Given the description of an element on the screen output the (x, y) to click on. 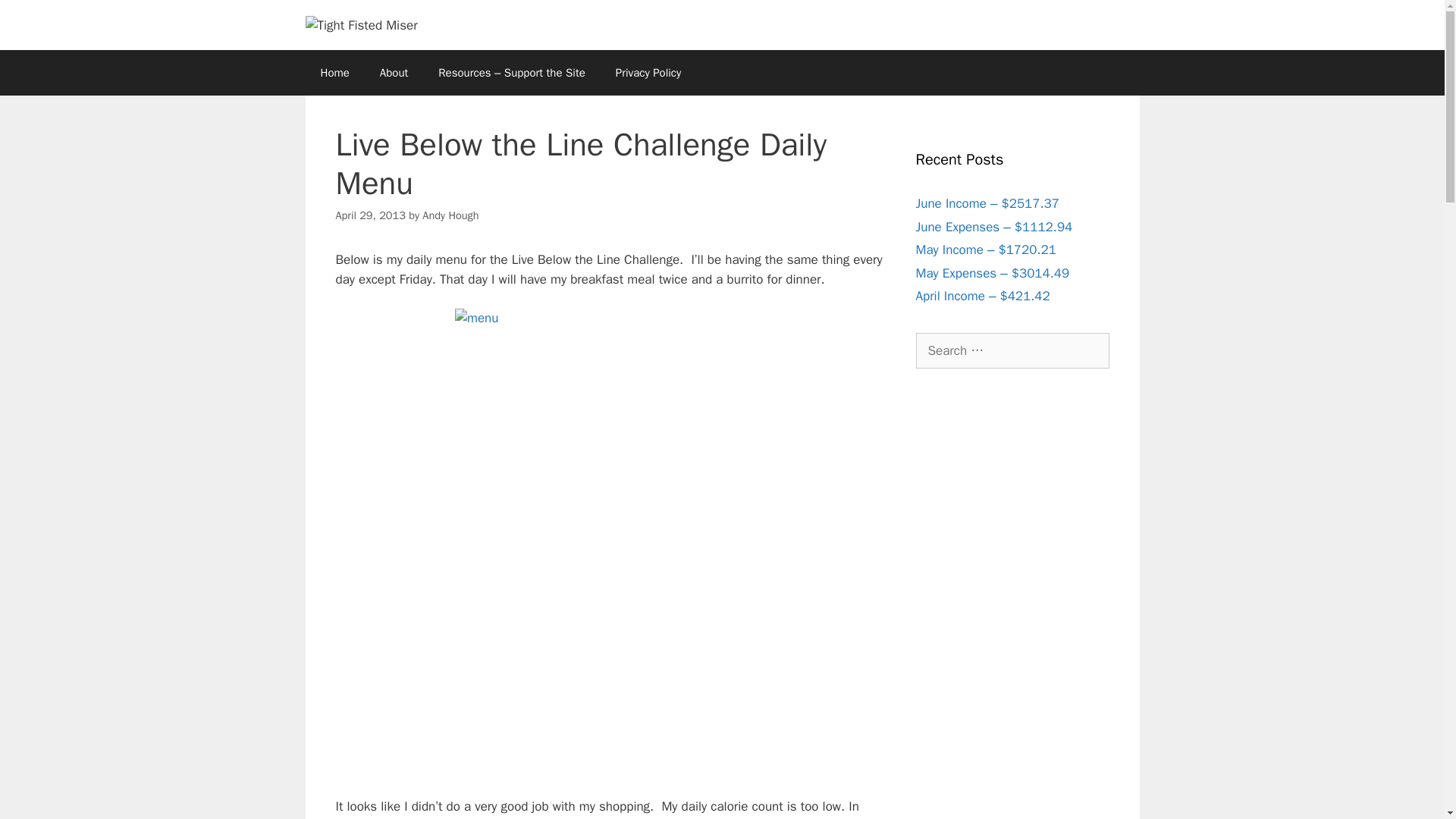
About (394, 72)
Search for: (1012, 350)
View all posts by Andy Hough (450, 214)
Search (35, 18)
Privacy Policy (648, 72)
Andy Hough (450, 214)
Home (334, 72)
